Given the description of an element on the screen output the (x, y) to click on. 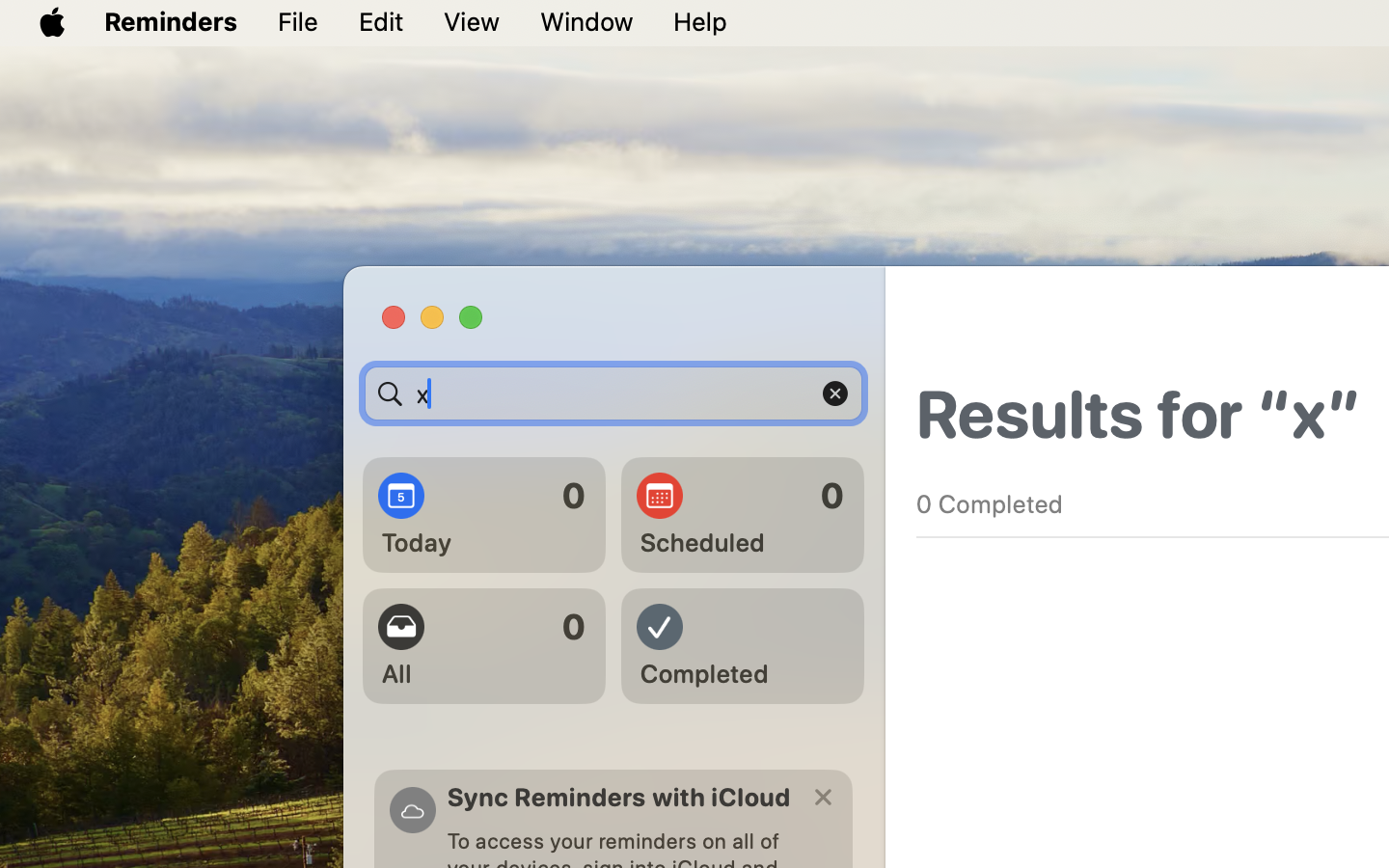
x Element type: AXTextField (613, 393)
Sync Reminders with iCloud Element type: AXStaticText (618, 796)
0 Completed Element type: AXStaticText (989, 503)
